Given the description of an element on the screen output the (x, y) to click on. 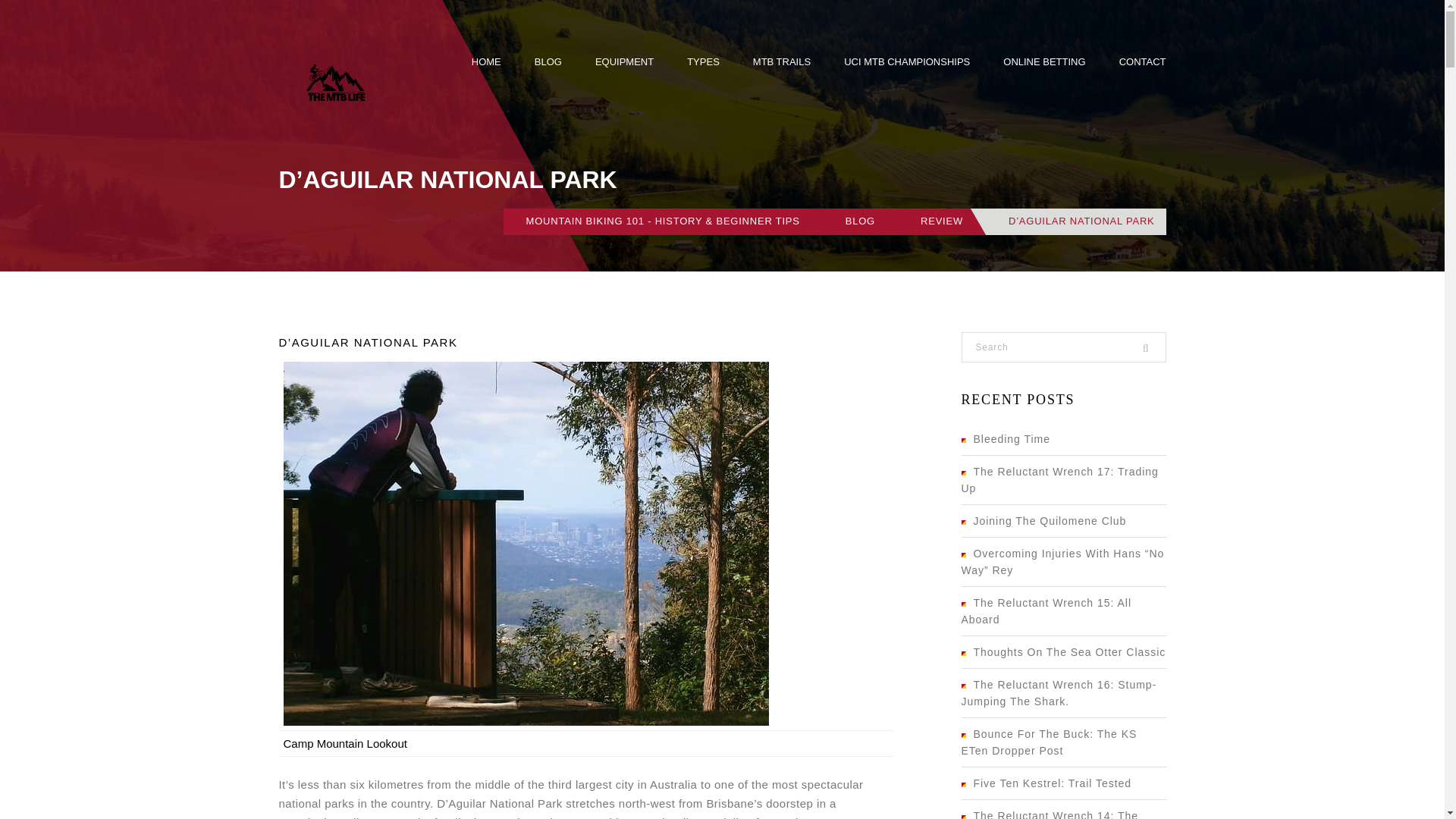
MTB TRAILS (781, 61)
HOME (485, 61)
CONTACT (1142, 61)
Contact (1142, 61)
BLOG (548, 61)
MTB Trails (781, 61)
BLOG (860, 221)
Joining The Quilomene Club (1043, 521)
Go to the Review Category archives. (941, 221)
Go to Blog. (860, 221)
UCI MTB Championships (906, 61)
Blog (548, 61)
The Reluctant Wrench 16: Stump-Jumping The Shark. (1058, 692)
The Reluctant Wrench 15: All Aboard (1046, 611)
TYPES (703, 61)
